Given the description of an element on the screen output the (x, y) to click on. 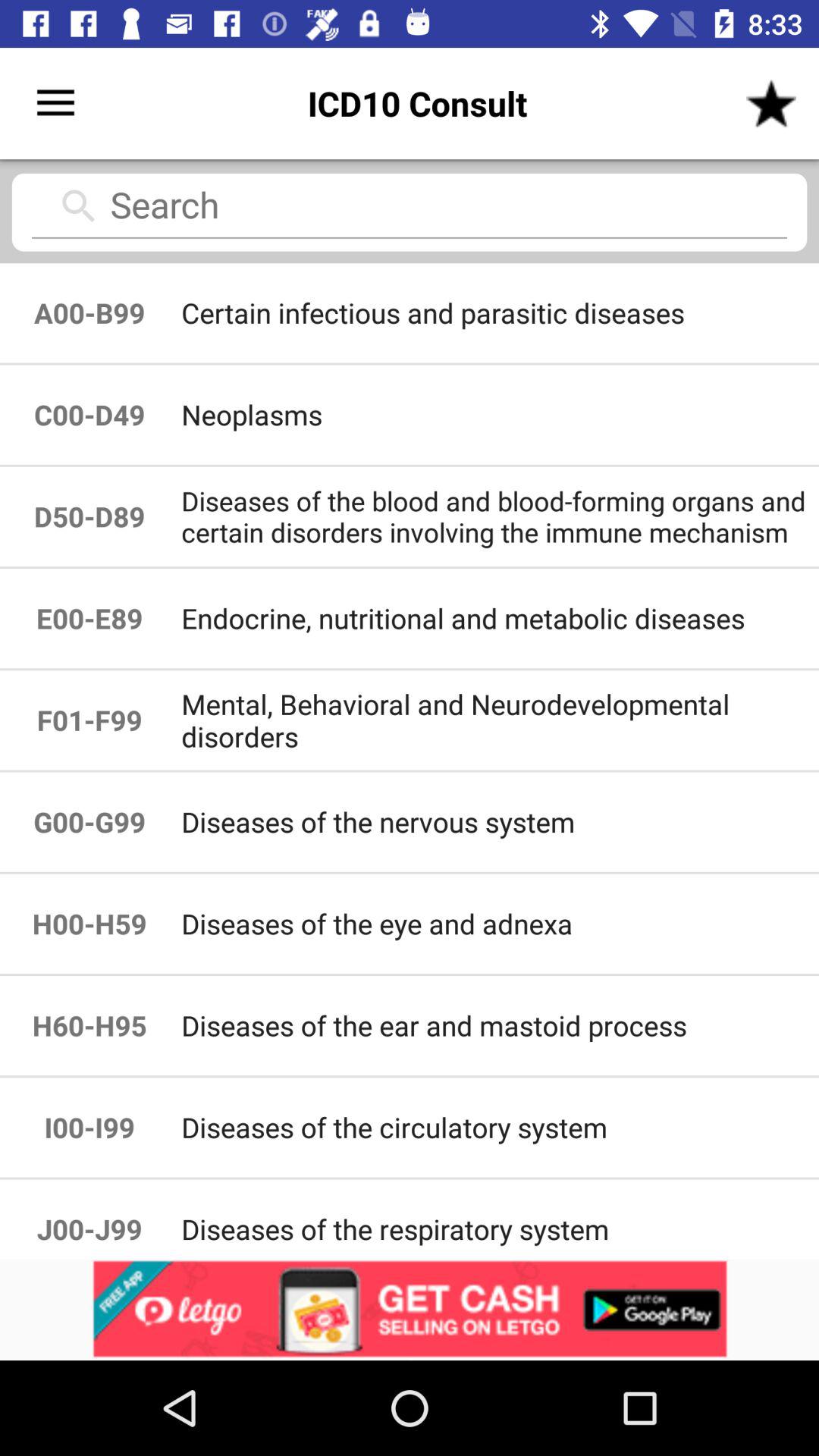
it pop up add (409, 1309)
